Given the description of an element on the screen output the (x, y) to click on. 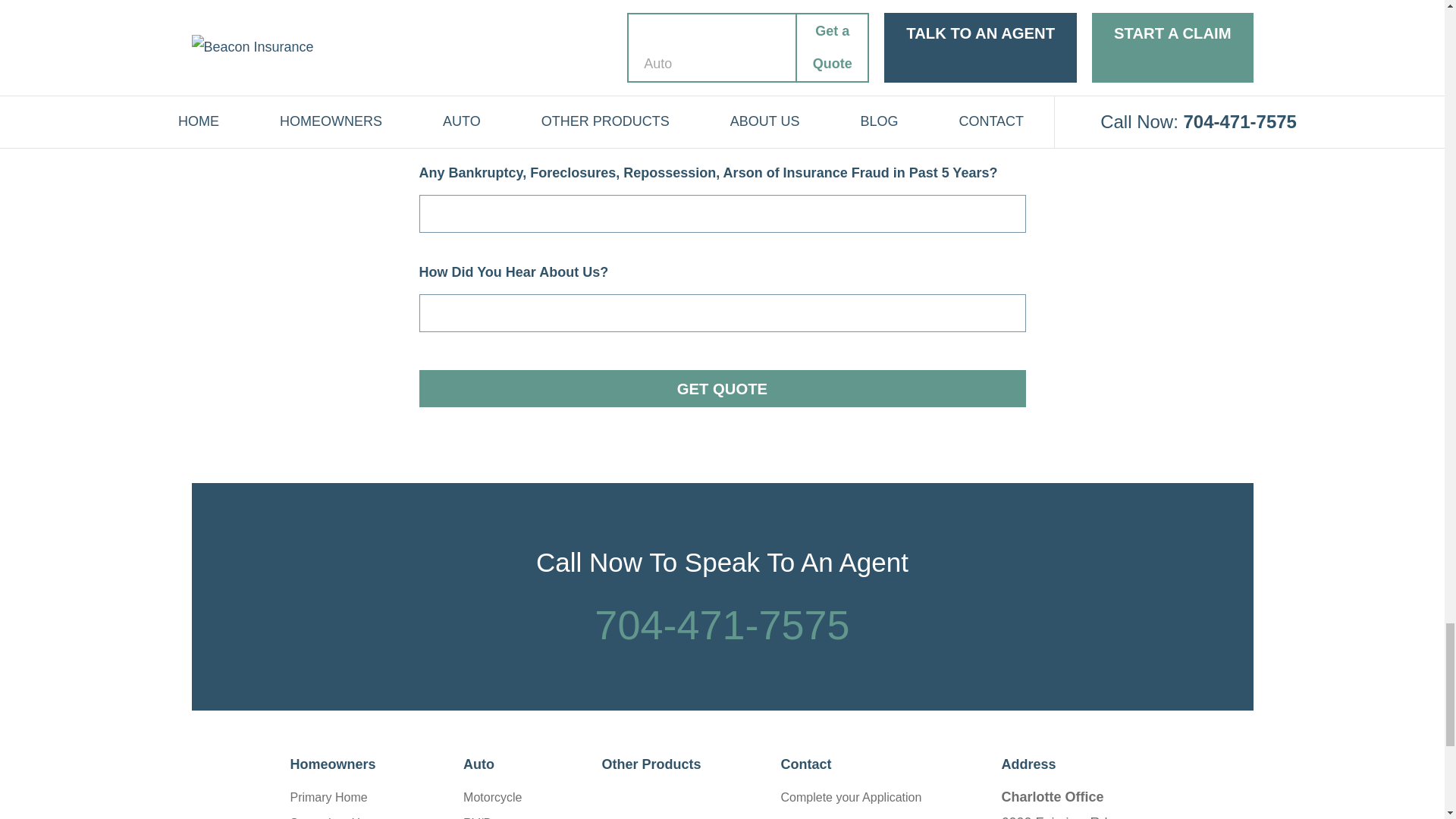
Auto (492, 764)
Get Quote (722, 388)
Other Products (650, 764)
Secondary Home (336, 817)
704-471-7575 (721, 624)
Primary Home (327, 797)
Complete your Application (850, 797)
Motorcycle (492, 797)
Homeowners (336, 764)
Primary Home (327, 797)
Contact (850, 764)
Homeowners (336, 764)
Secondary Home (336, 817)
